Given the description of an element on the screen output the (x, y) to click on. 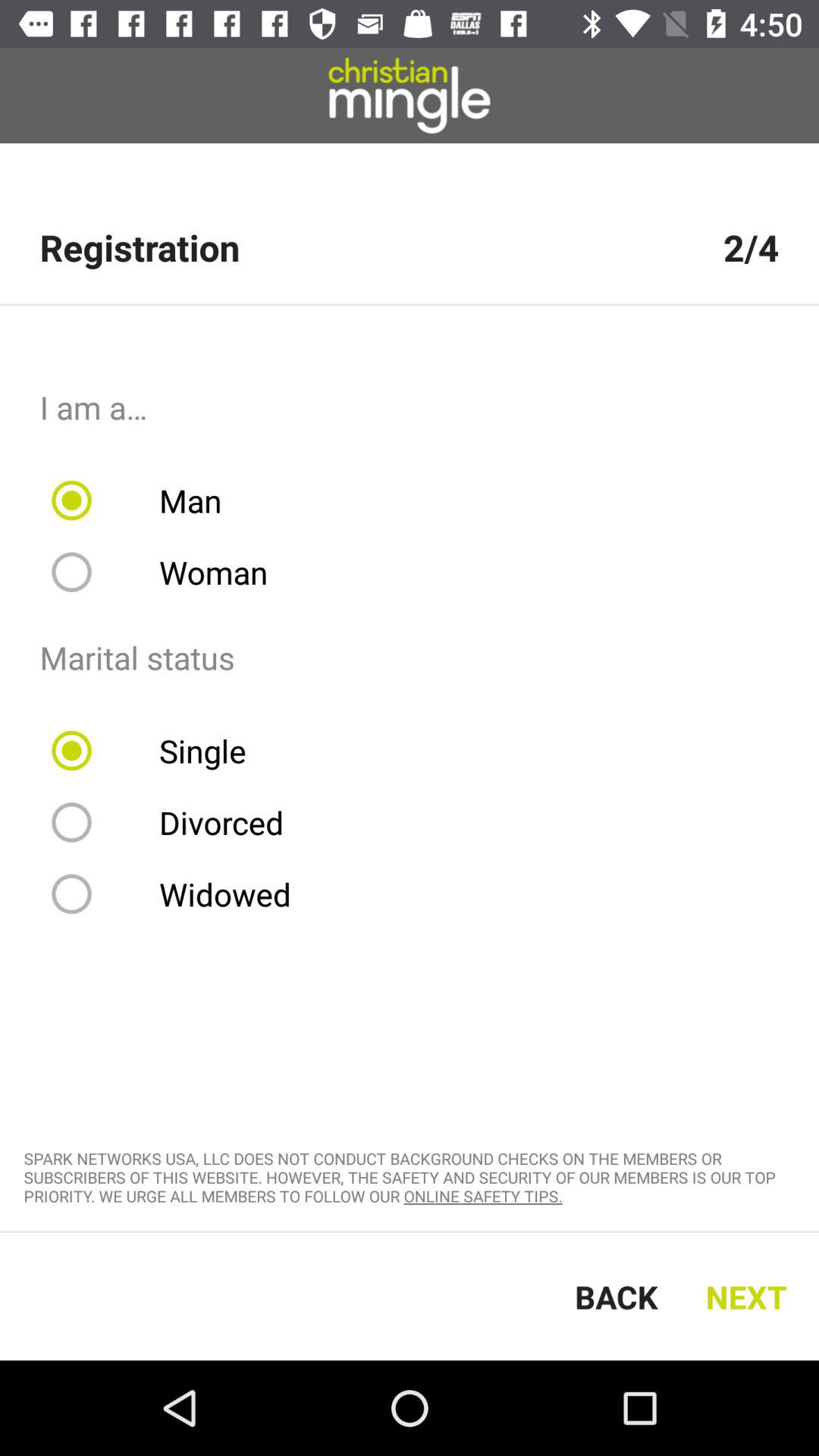
click widowed icon (181, 893)
